Given the description of an element on the screen output the (x, y) to click on. 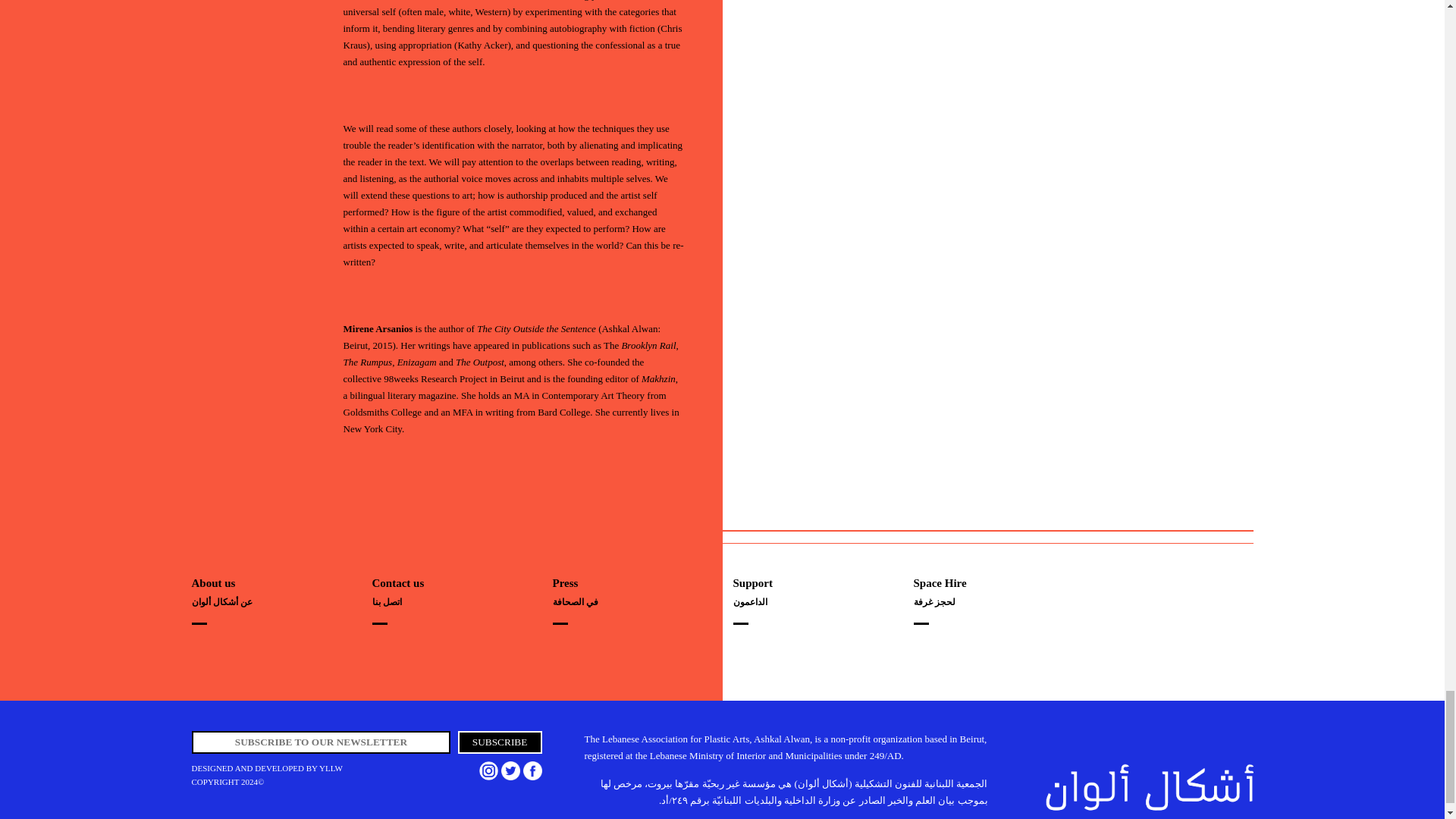
Subscribe (499, 742)
YLLW (330, 768)
Subscribe (499, 742)
